Given the description of an element on the screen output the (x, y) to click on. 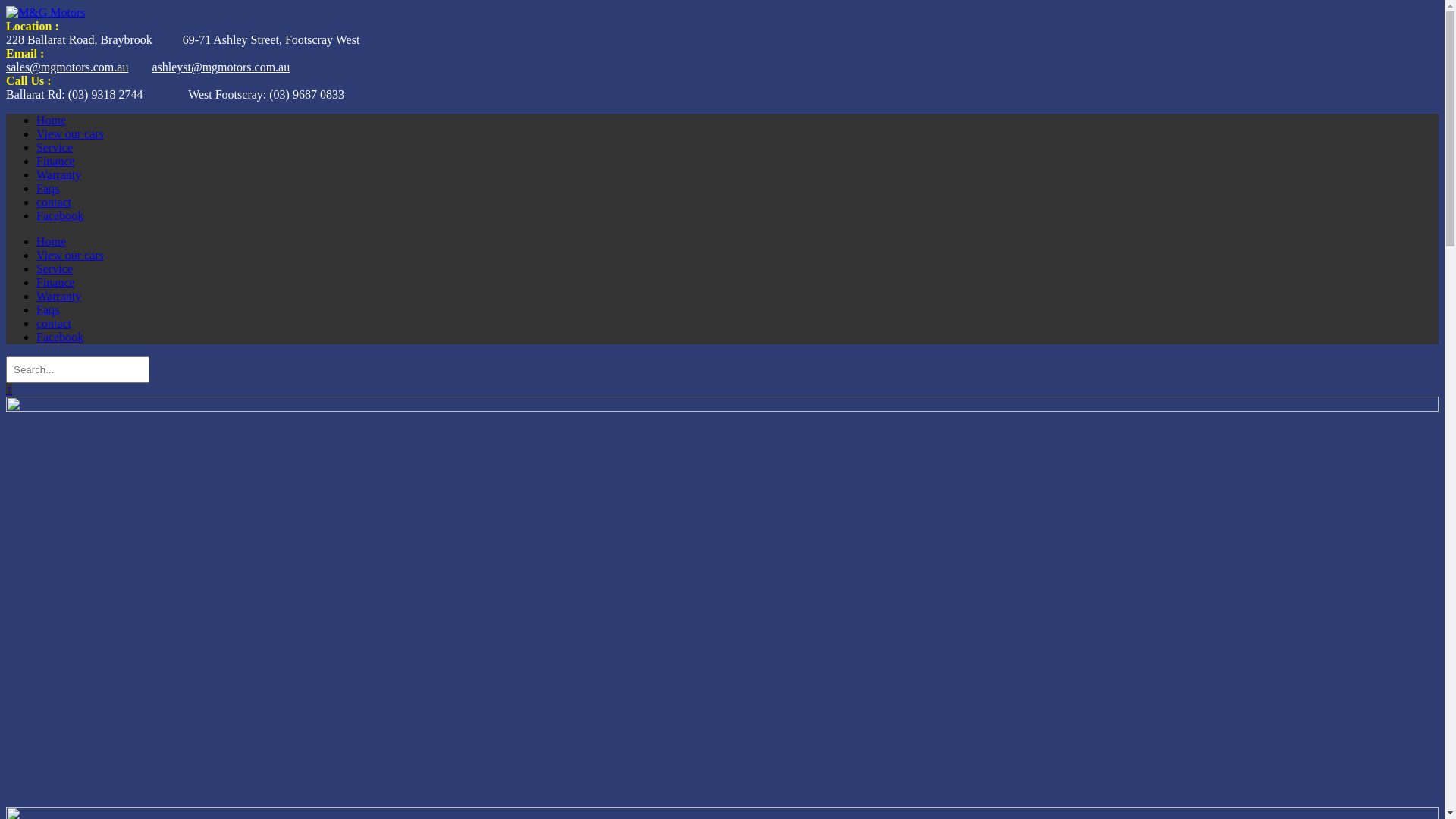
View our cars Element type: text (69, 254)
Home Element type: text (50, 119)
ashleyst@mgmotors.com.au Element type: text (210, 66)
sales@mgmotors.com.au Element type: text (67, 66)
Faqs Element type: text (47, 309)
Facebook Element type: text (59, 336)
Faqs Element type: text (47, 188)
contact Element type: text (53, 322)
Service Element type: text (54, 268)
sl-lg-01 Element type: hover (722, 601)
Finance Element type: text (55, 160)
contact Element type: text (53, 201)
Warranty Element type: text (58, 295)
Home Element type: text (50, 241)
Service Element type: text (54, 147)
Finance Element type: text (55, 282)
Warranty Element type: text (58, 174)
View our cars Element type: text (69, 133)
Facebook Element type: text (59, 215)
